Given the description of an element on the screen output the (x, y) to click on. 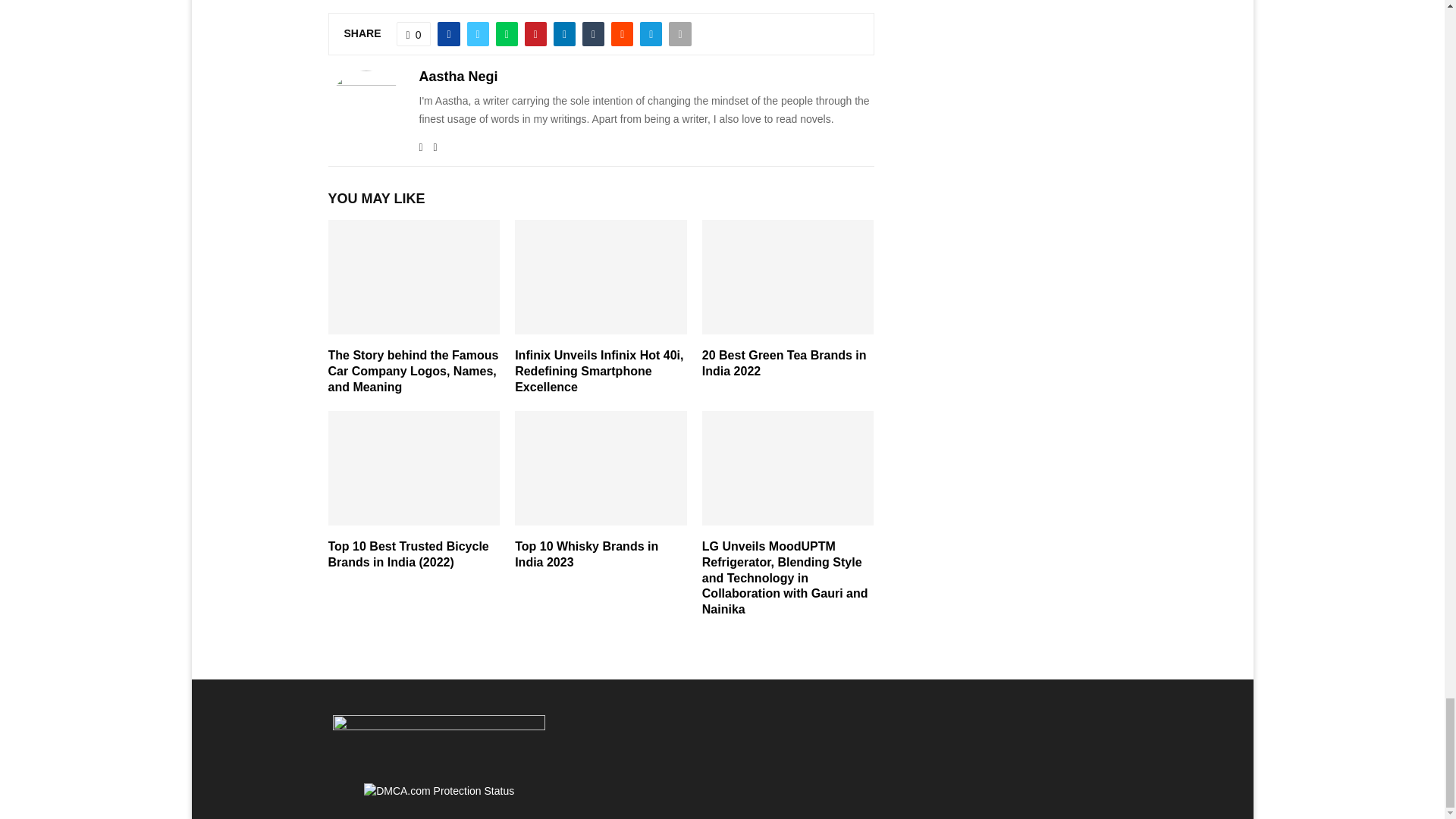
0 (413, 33)
Like (413, 33)
Posts by Aastha Negi (458, 76)
